Given the description of an element on the screen output the (x, y) to click on. 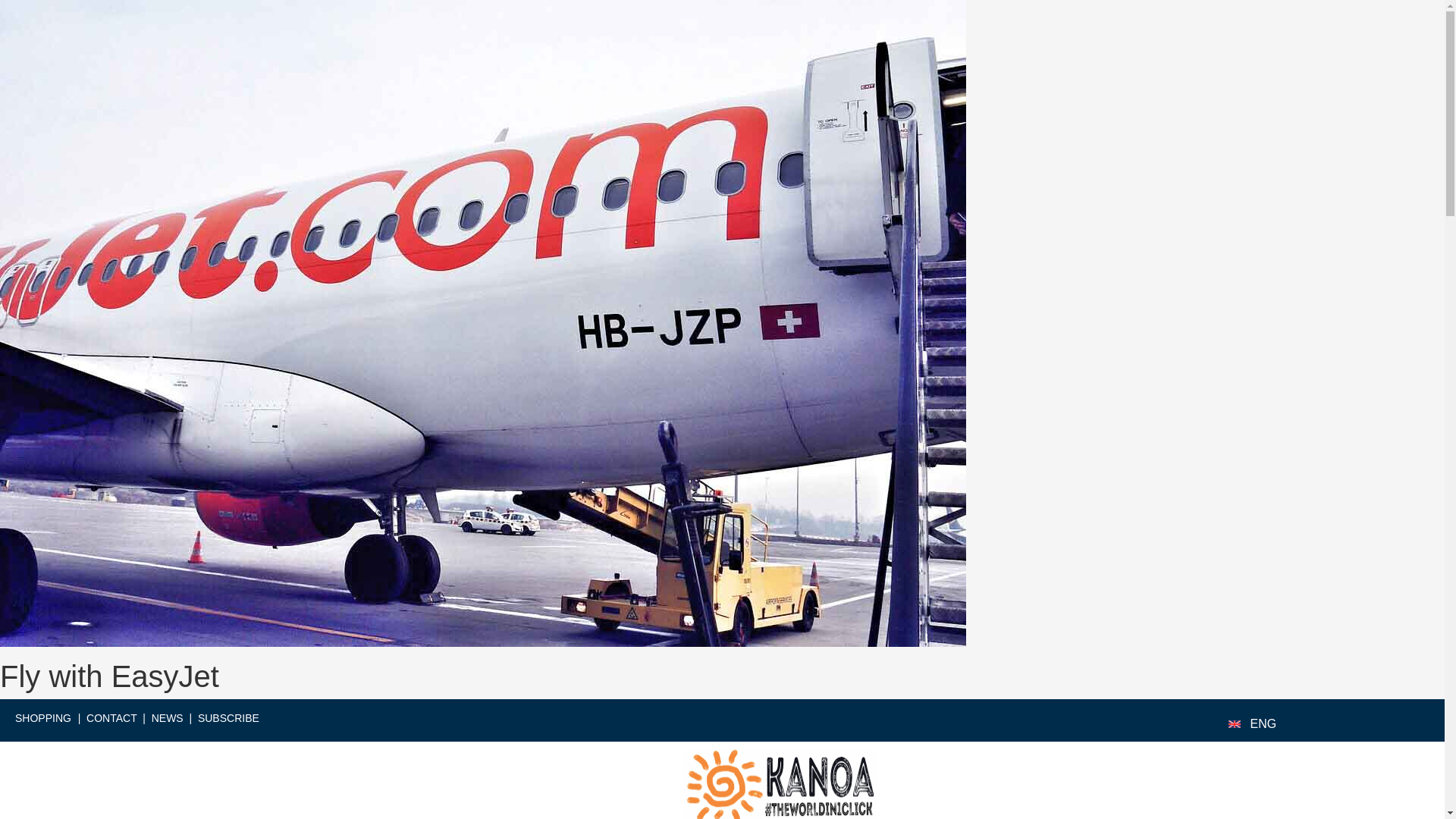
CONTACT (110, 717)
ENG (1263, 723)
NEWS (167, 717)
SUBSCRIBE (228, 717)
SHOPPING (42, 717)
